Given the description of an element on the screen output the (x, y) to click on. 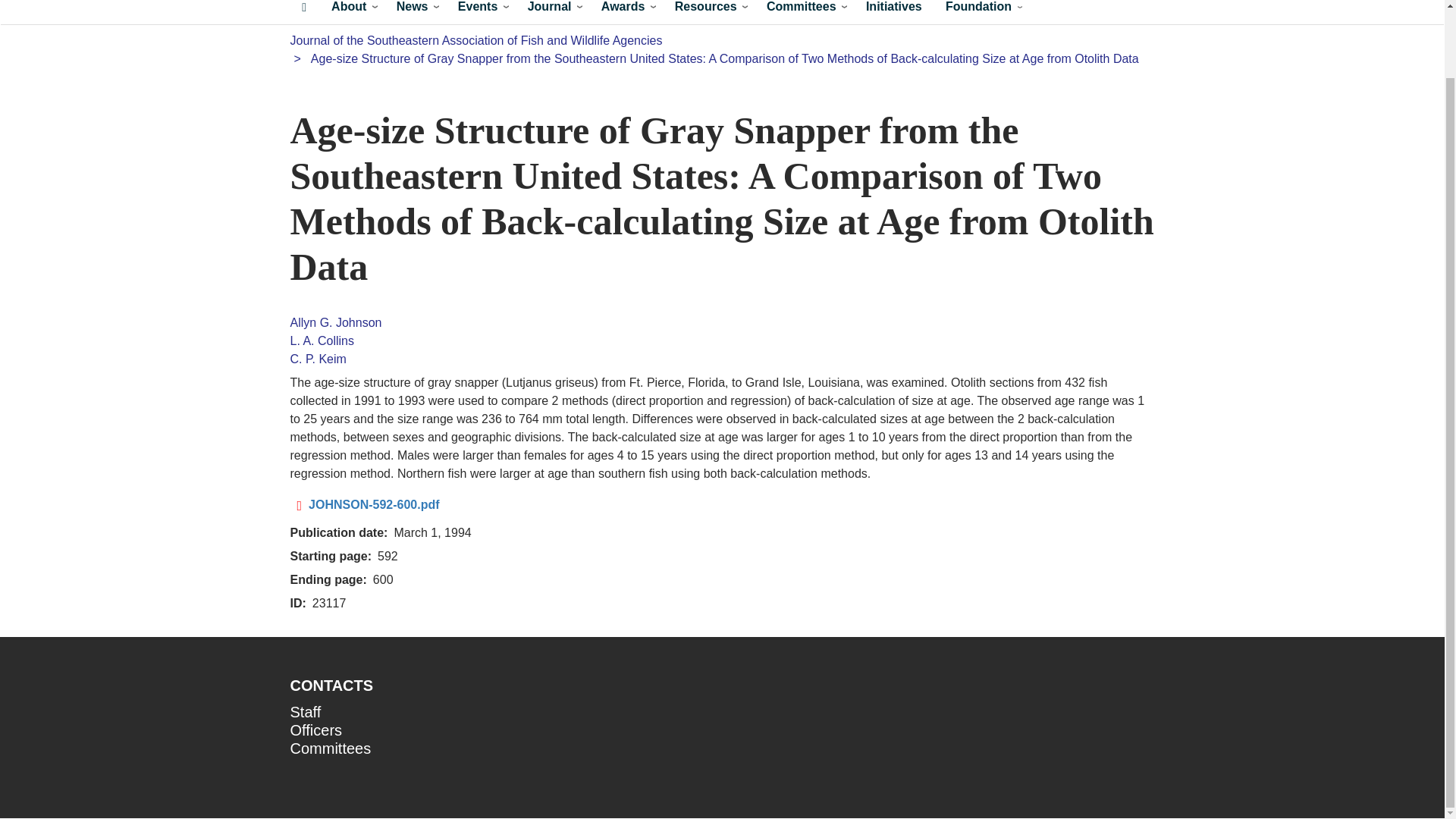
Home (303, 12)
News (414, 12)
Events (480, 12)
About (351, 12)
